Given the description of an element on the screen output the (x, y) to click on. 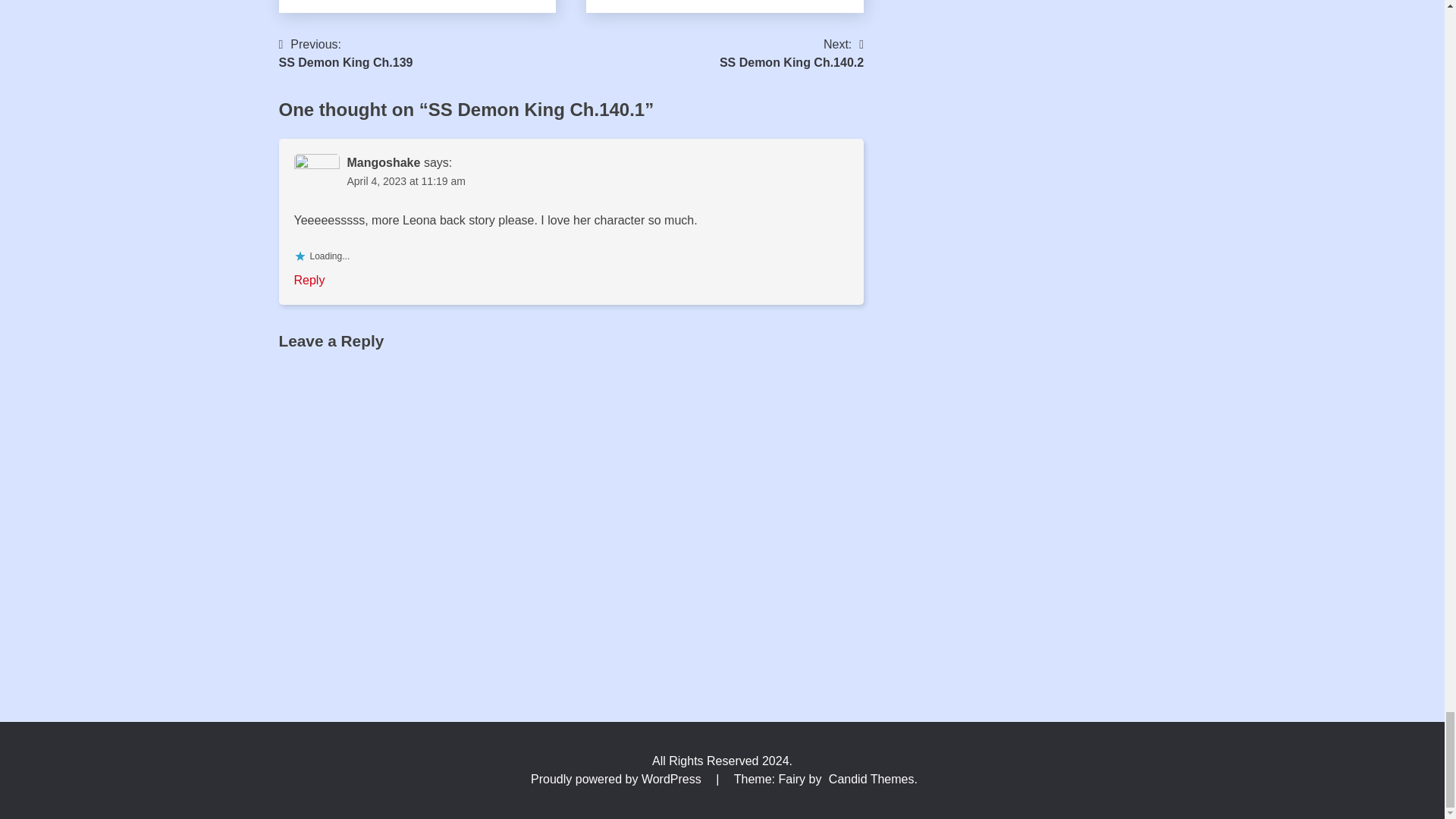
Comment Form (346, 54)
